Given the description of an element on the screen output the (x, y) to click on. 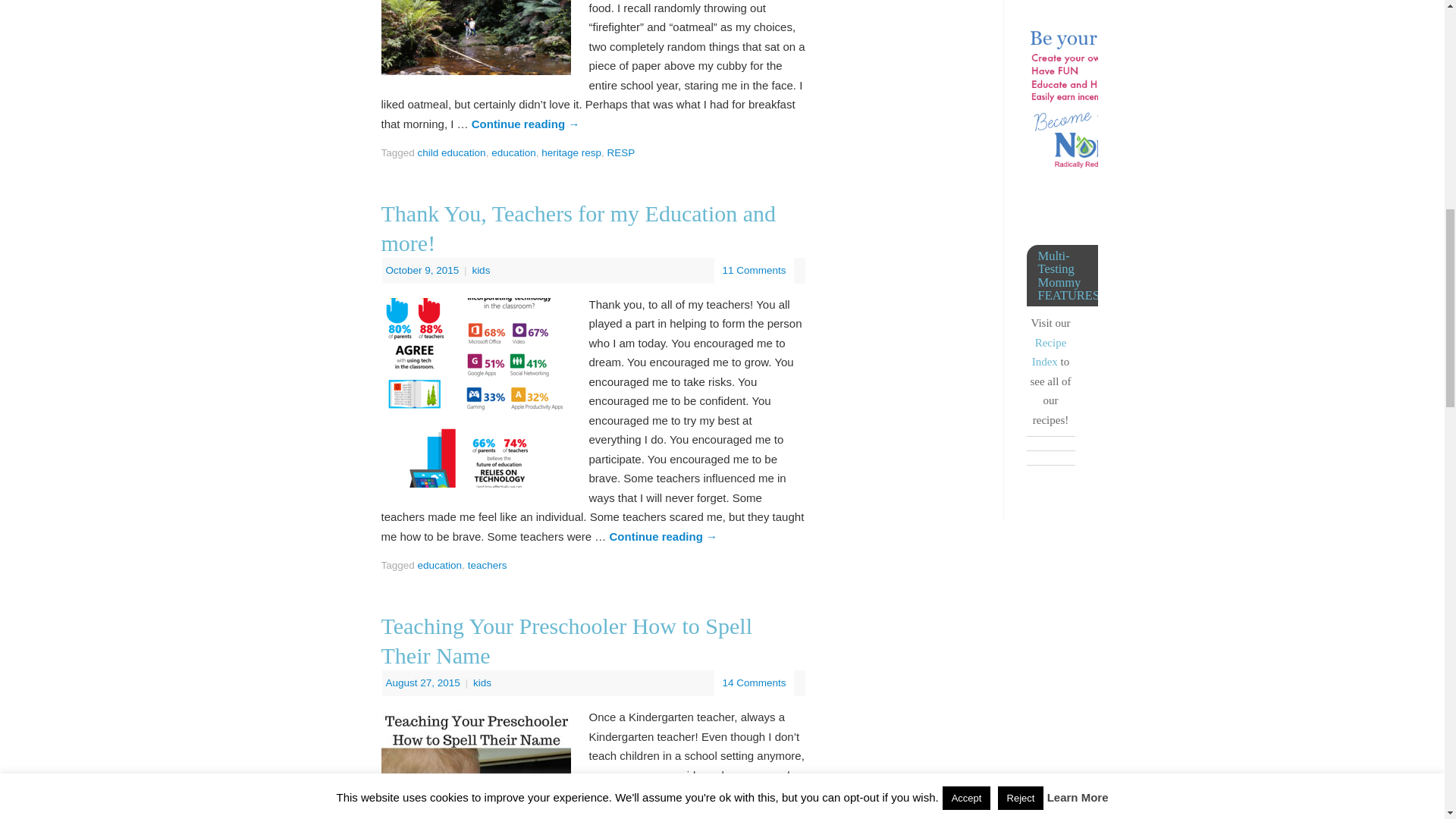
RESP (620, 152)
heritage resp (571, 152)
11:52 am (423, 270)
education (513, 152)
Permalink to Thank You, Teachers for my Education and more! (578, 227)
Thank You, Teachers for my Education and more! (578, 227)
child education (451, 152)
